Given the description of an element on the screen output the (x, y) to click on. 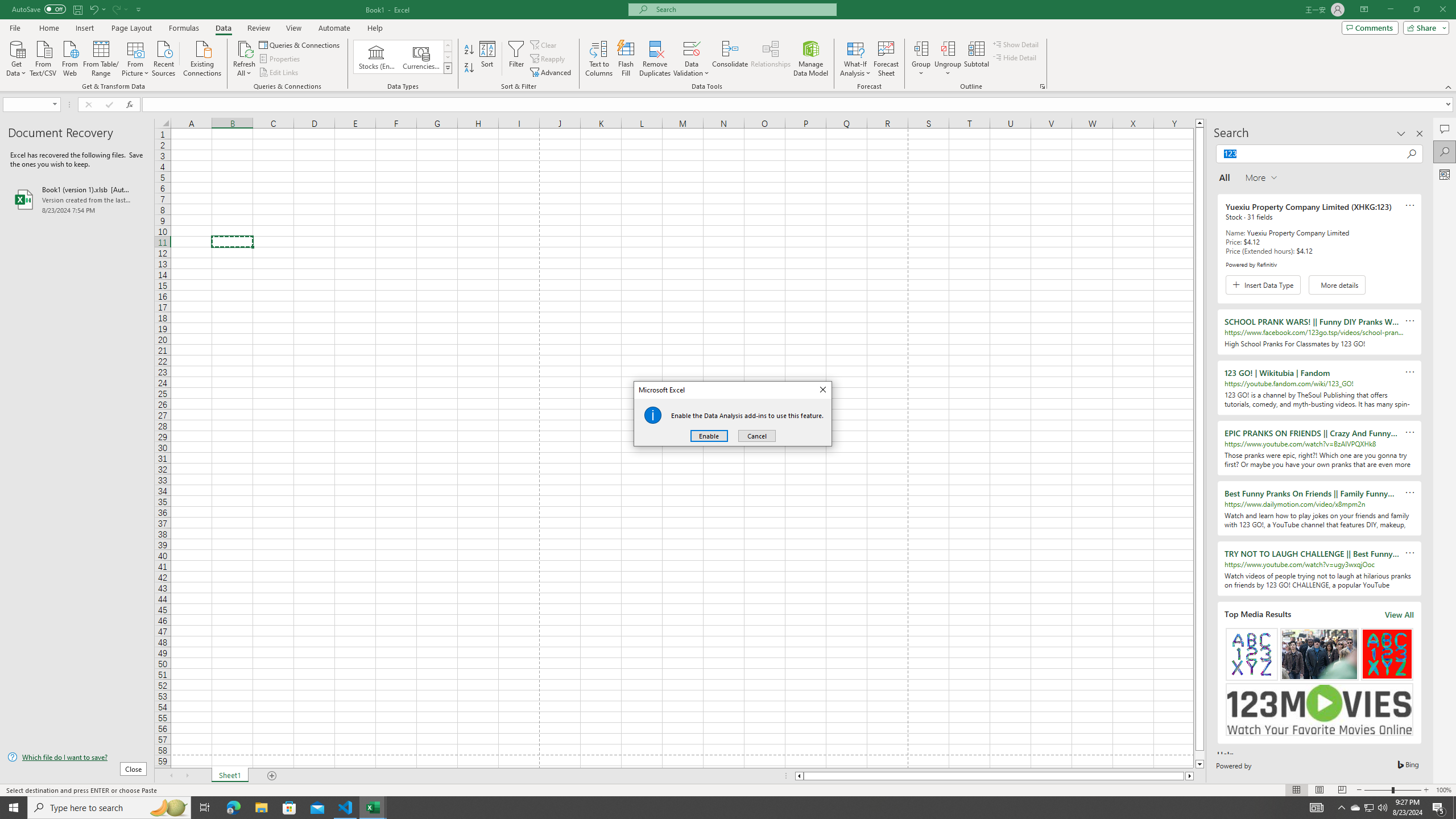
Running applications (717, 807)
